Given the description of an element on the screen output the (x, y) to click on. 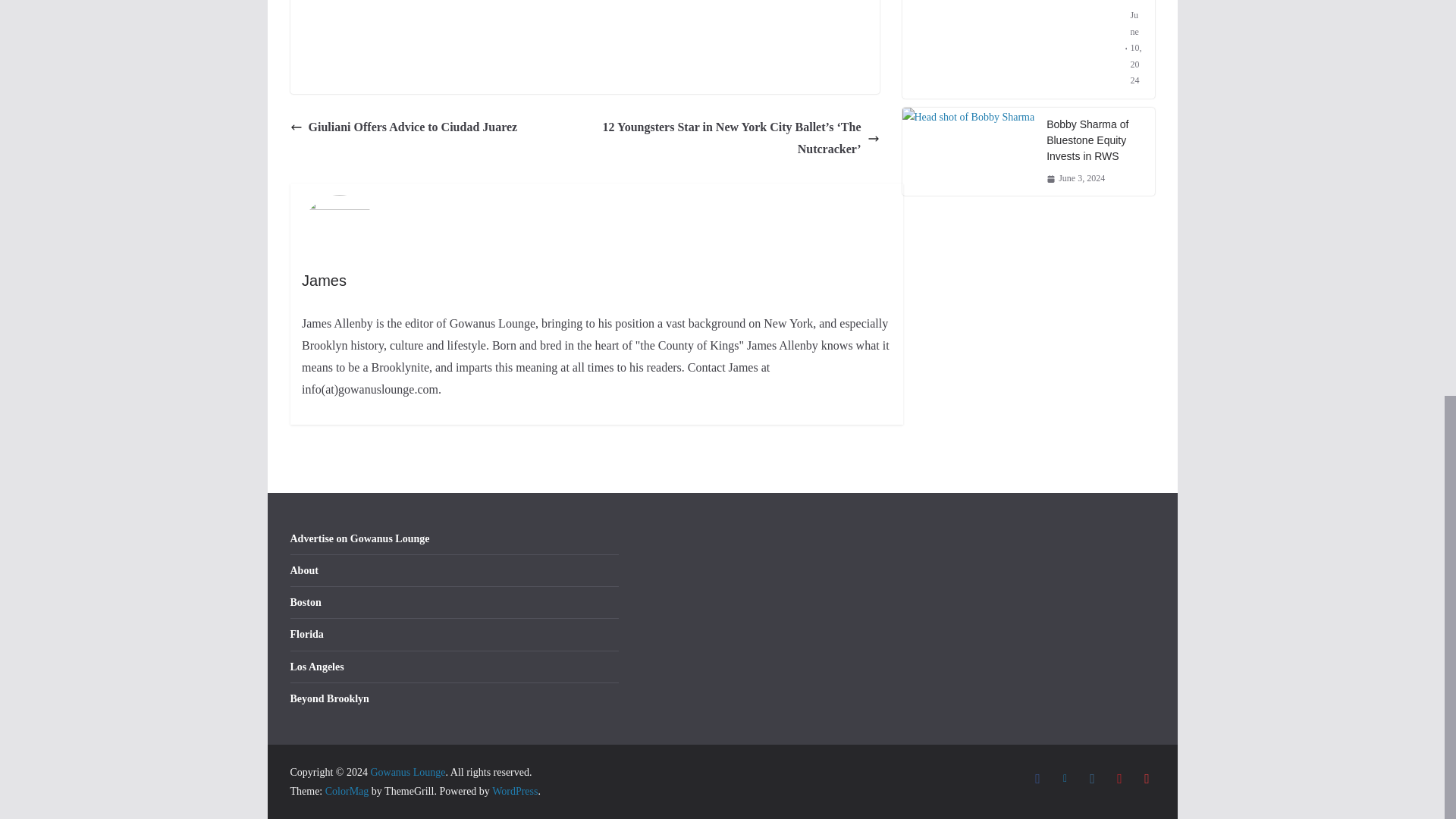
Hawk (418, 38)
